Given the description of an element on the screen output the (x, y) to click on. 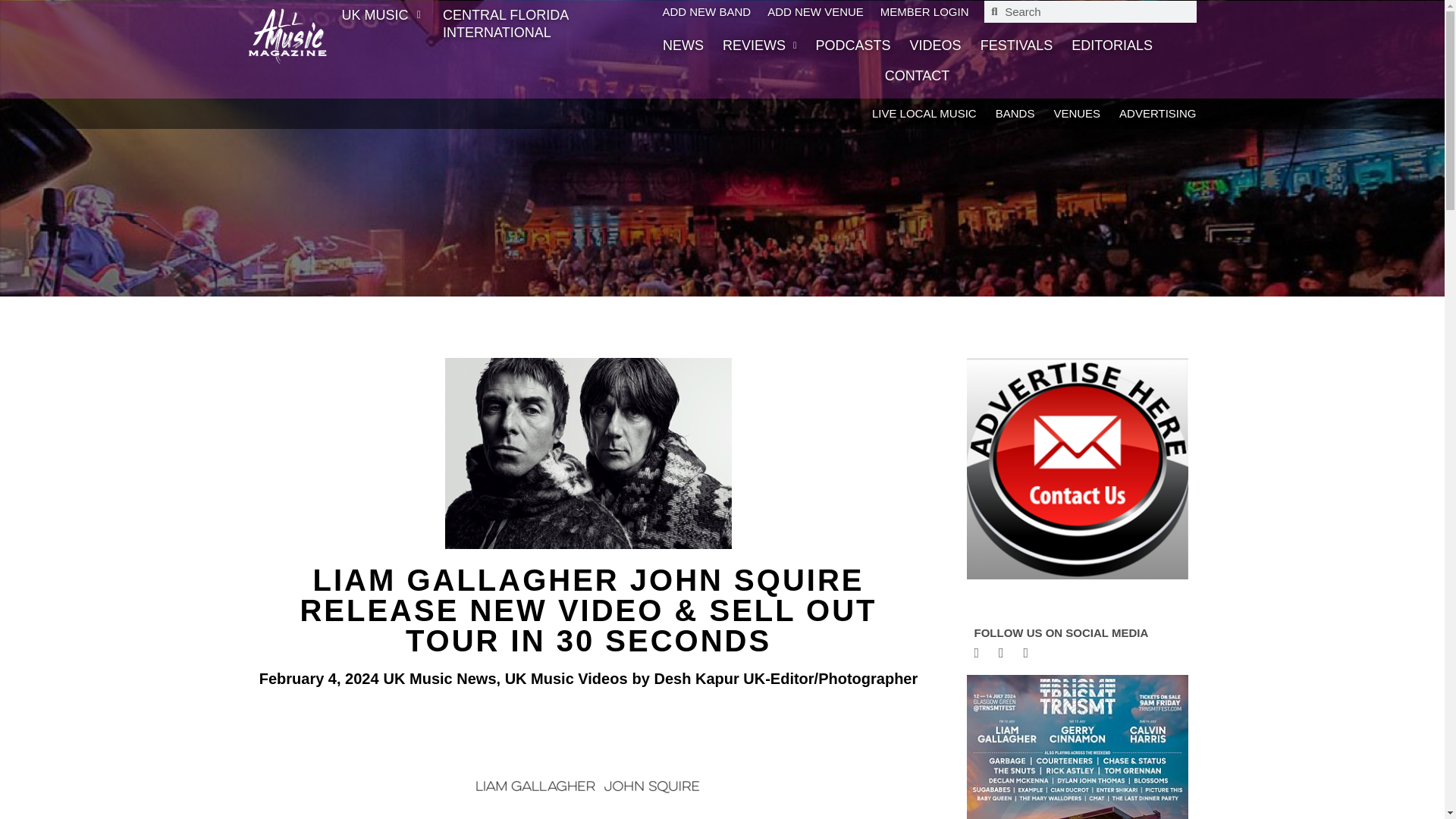
ADD NEW BAND (706, 11)
EDITORIALS (1112, 45)
BANDS (1015, 113)
VENUES (1076, 113)
FESTIVALS (1015, 45)
ADD NEW VENUE (815, 11)
MEMBER LOGIN (924, 11)
PODCASTS (853, 45)
UK MUSIC (384, 15)
INTERNATIONAL (507, 32)
ADVERTISING (1157, 113)
CONTACT (917, 75)
VIDEOS (935, 45)
REVIEWS (759, 45)
CENTRAL FLORIDA (507, 15)
